Given the description of an element on the screen output the (x, y) to click on. 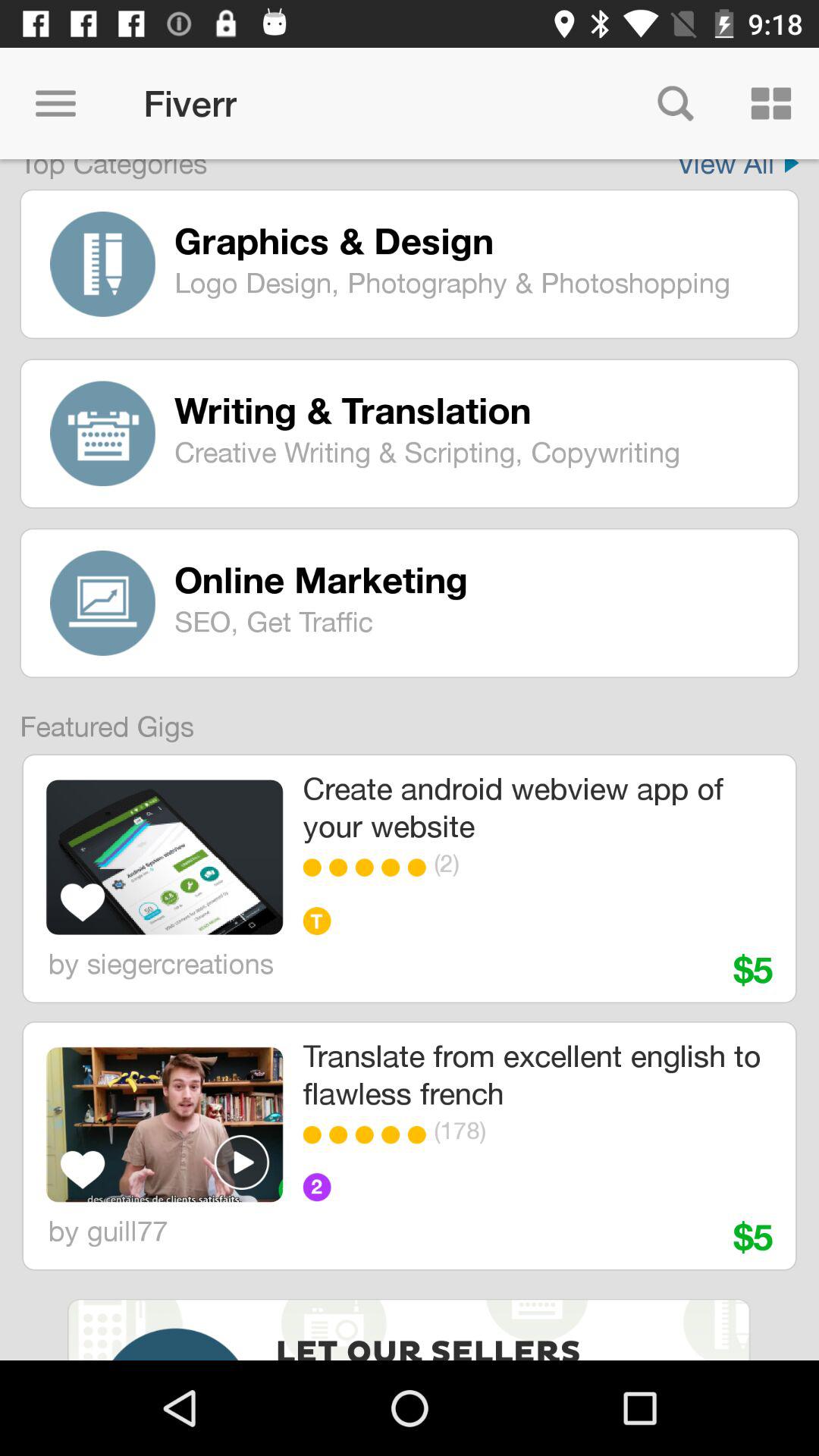
play video (242, 1161)
